Given the description of an element on the screen output the (x, y) to click on. 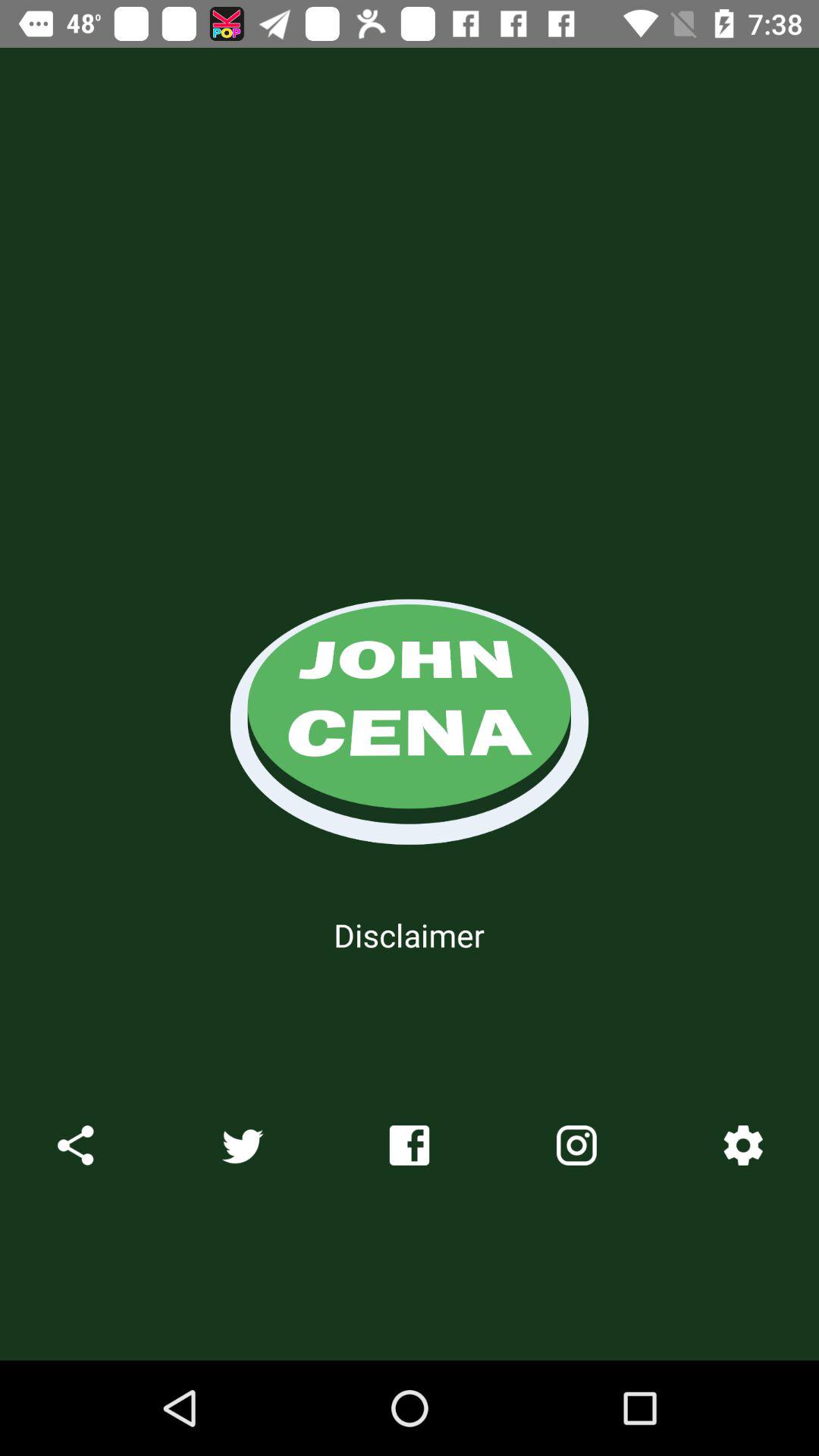
swipe until the disclaimer (408, 934)
